Given the description of an element on the screen output the (x, y) to click on. 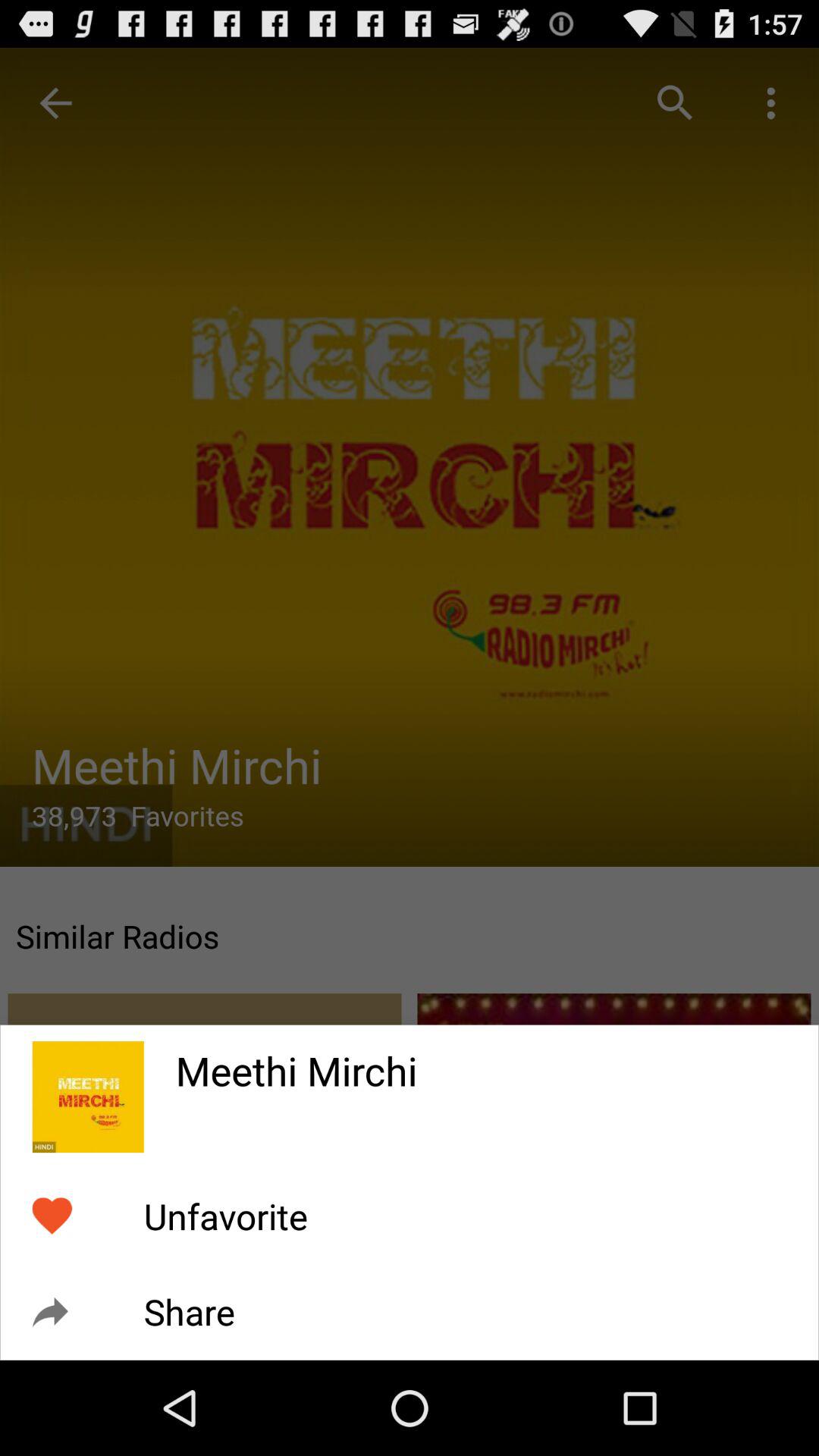
open the share (188, 1311)
